Given the description of an element on the screen output the (x, y) to click on. 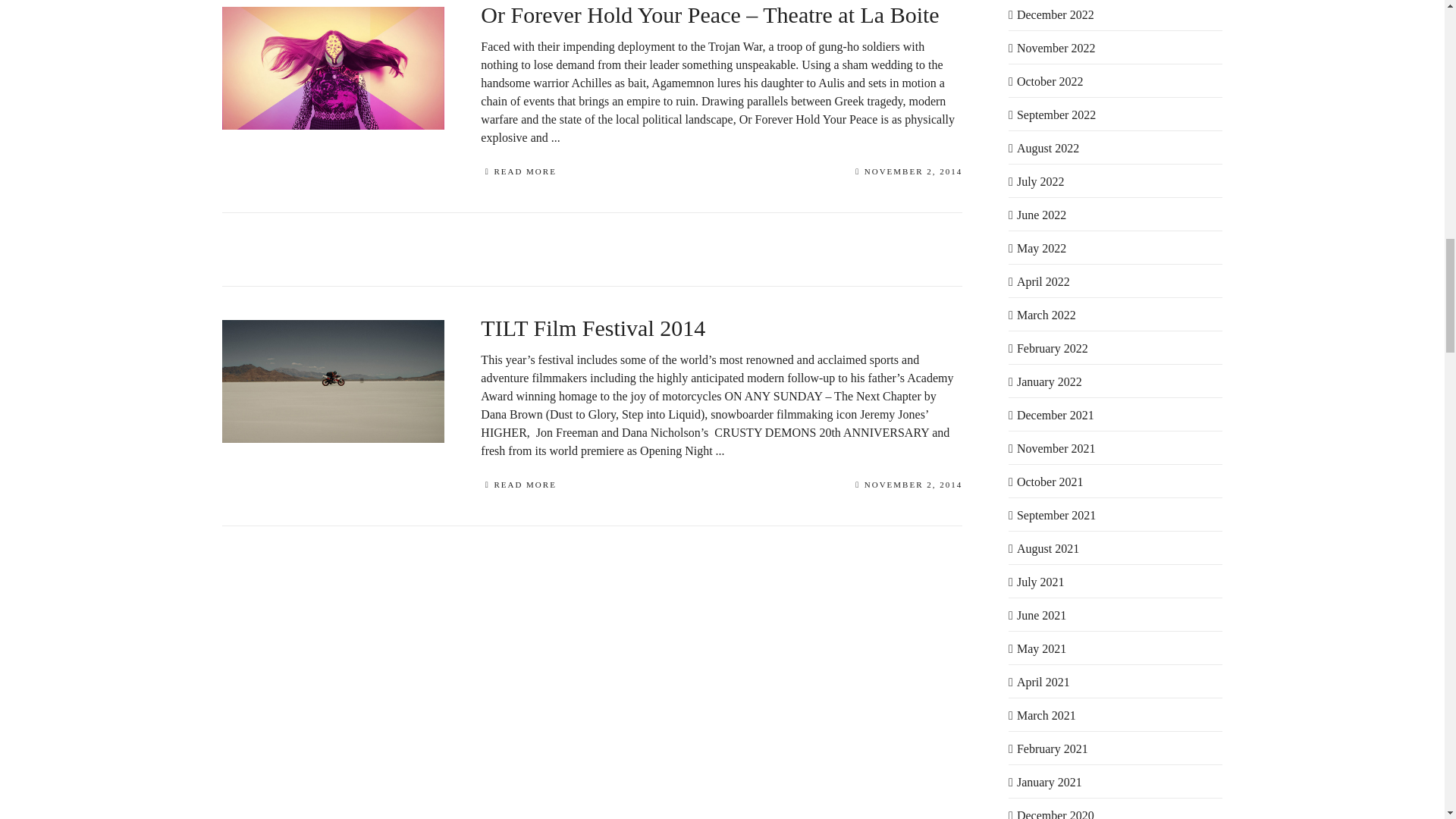
NOVEMBER 2, 2014 (909, 173)
READ MORE (518, 173)
